Given the description of an element on the screen output the (x, y) to click on. 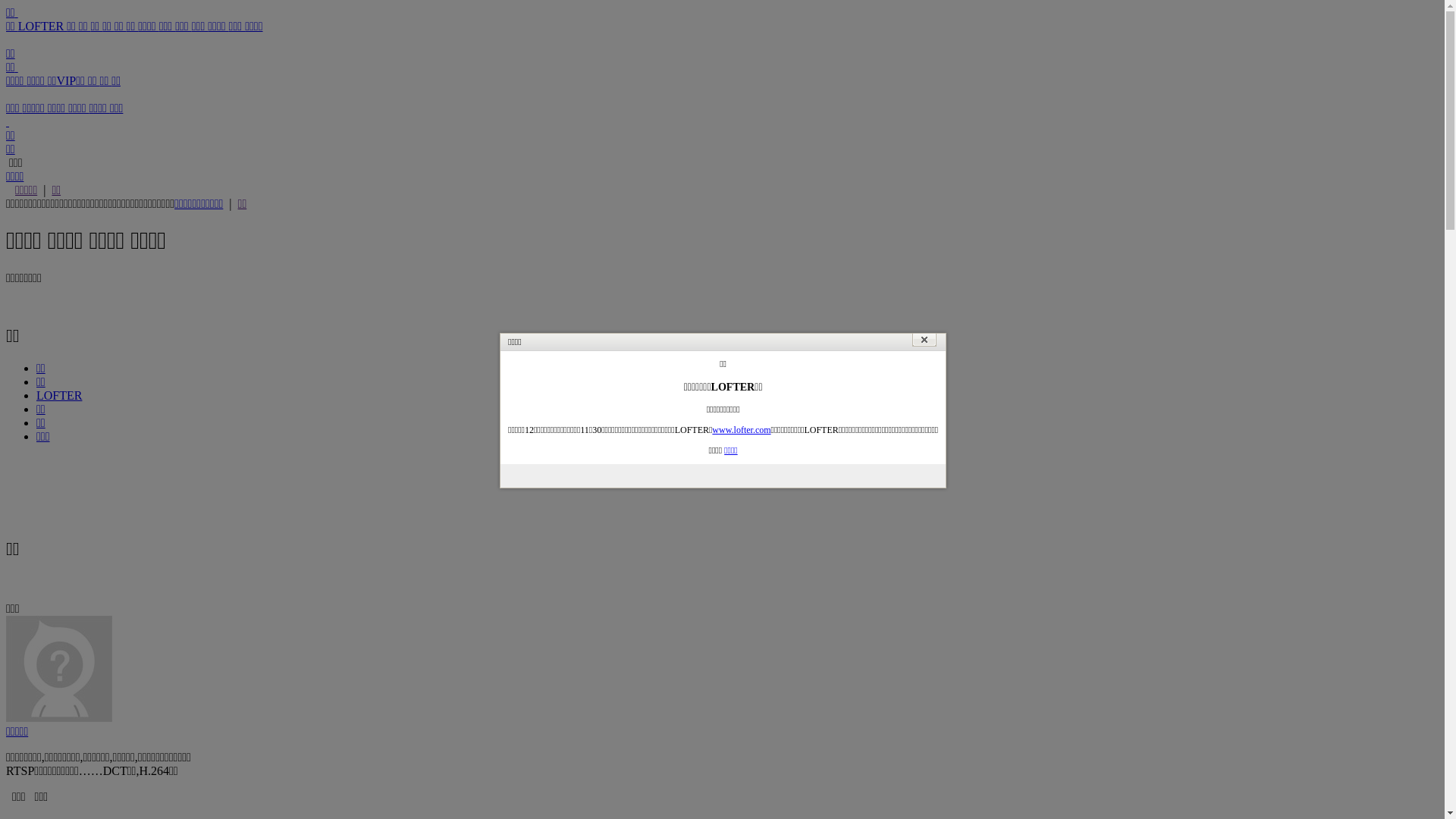
LOFTER Element type: text (58, 395)
www.lofter.com Element type: text (741, 429)
  Element type: text (7, 121)
LOFTER Element type: text (42, 25)
